Given the description of an element on the screen output the (x, y) to click on. 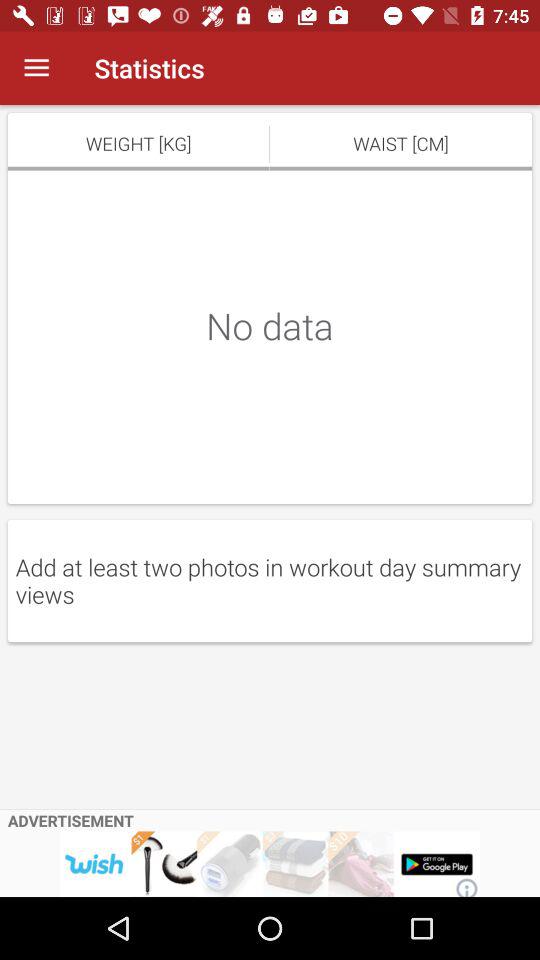
advertisement (270, 864)
